Given the description of an element on the screen output the (x, y) to click on. 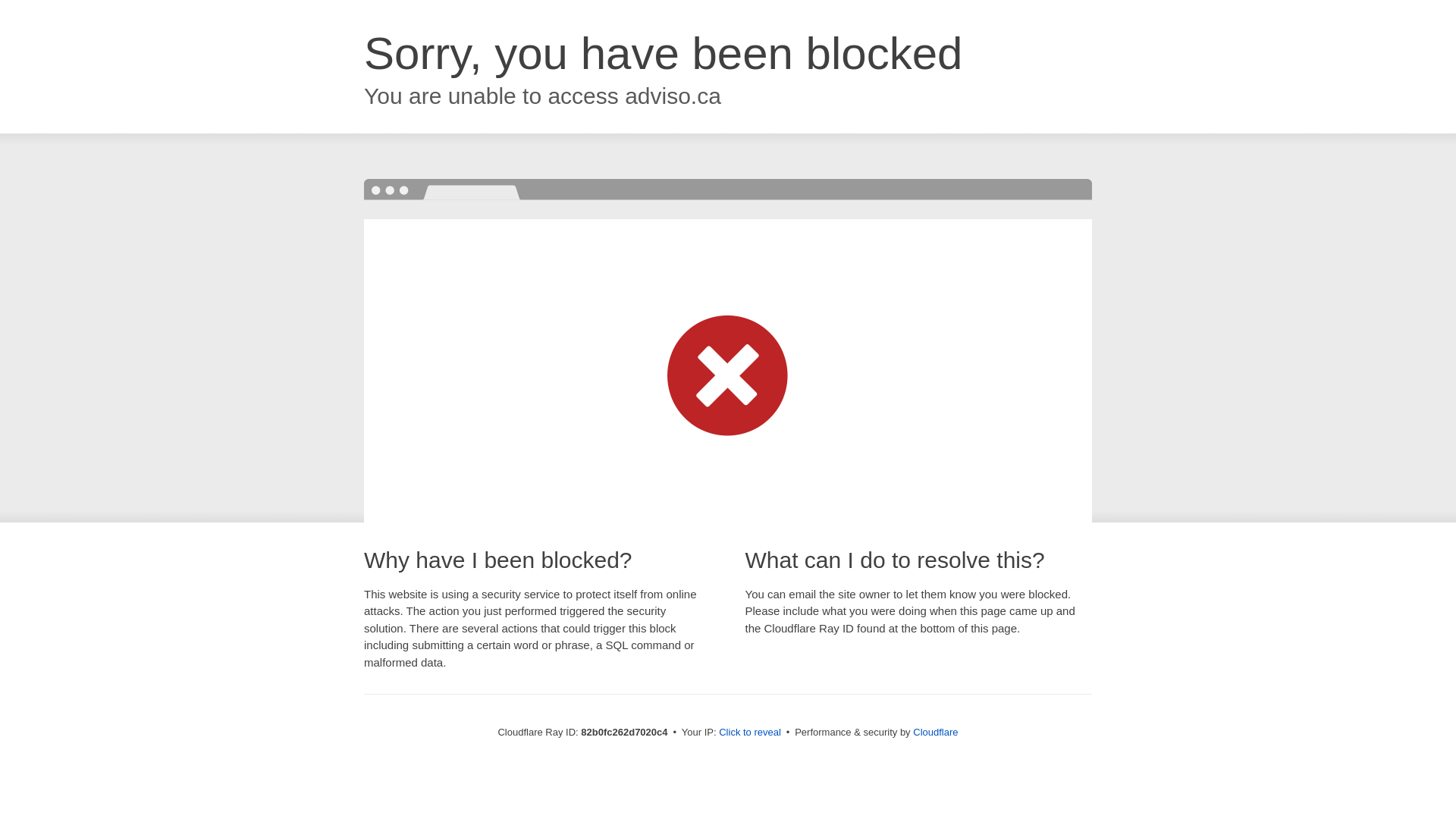
Click to reveal Element type: text (749, 732)
Cloudflare Element type: text (935, 731)
